Given the description of an element on the screen output the (x, y) to click on. 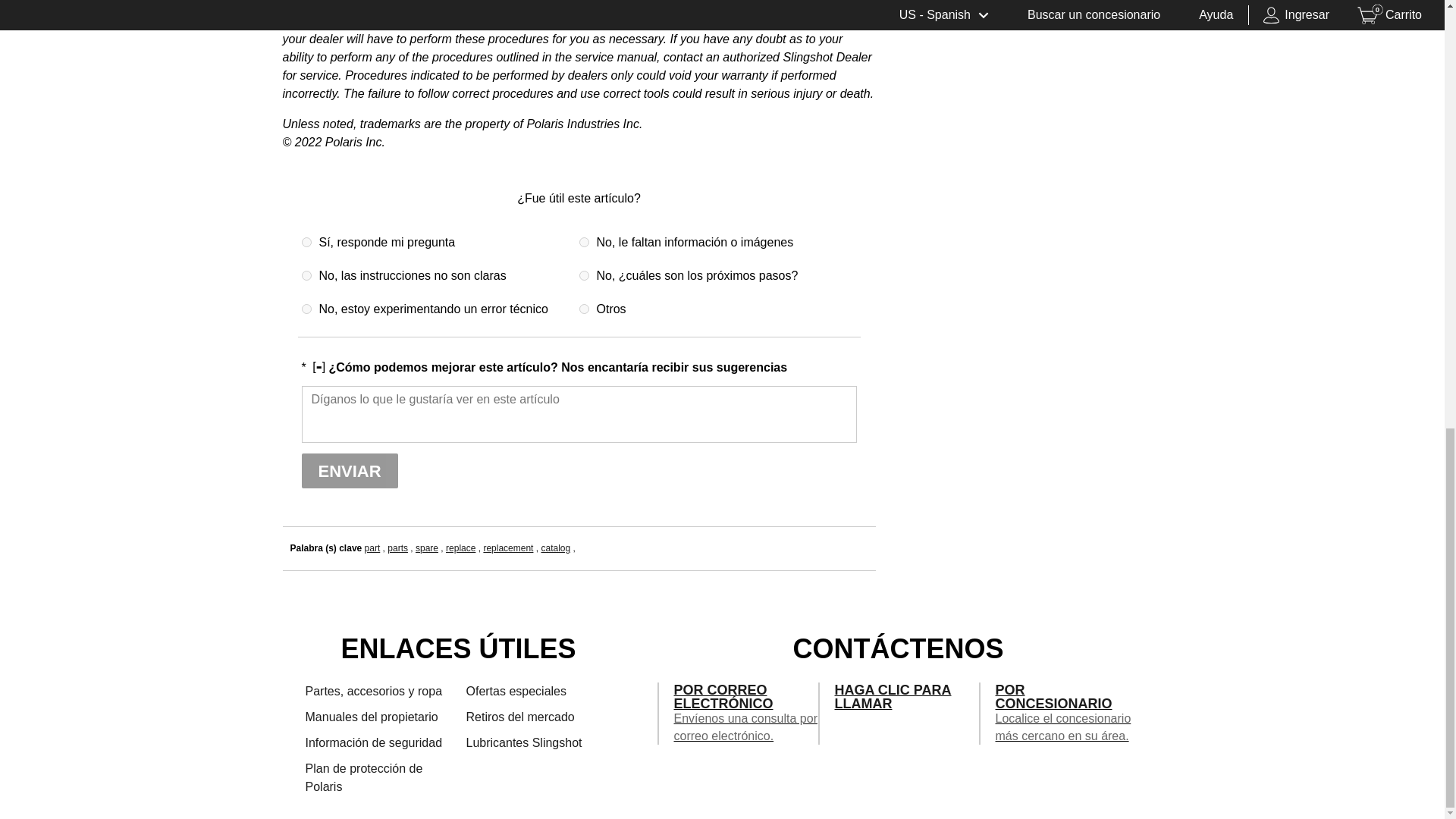
Yes. It answers my question (306, 242)
Other (584, 308)
No. What are the next steps? (584, 275)
No. The instructions are unclear (306, 275)
No. It is missing information or visuals (584, 242)
No. I am experiencing a technical error (306, 308)
